Given the description of an element on the screen output the (x, y) to click on. 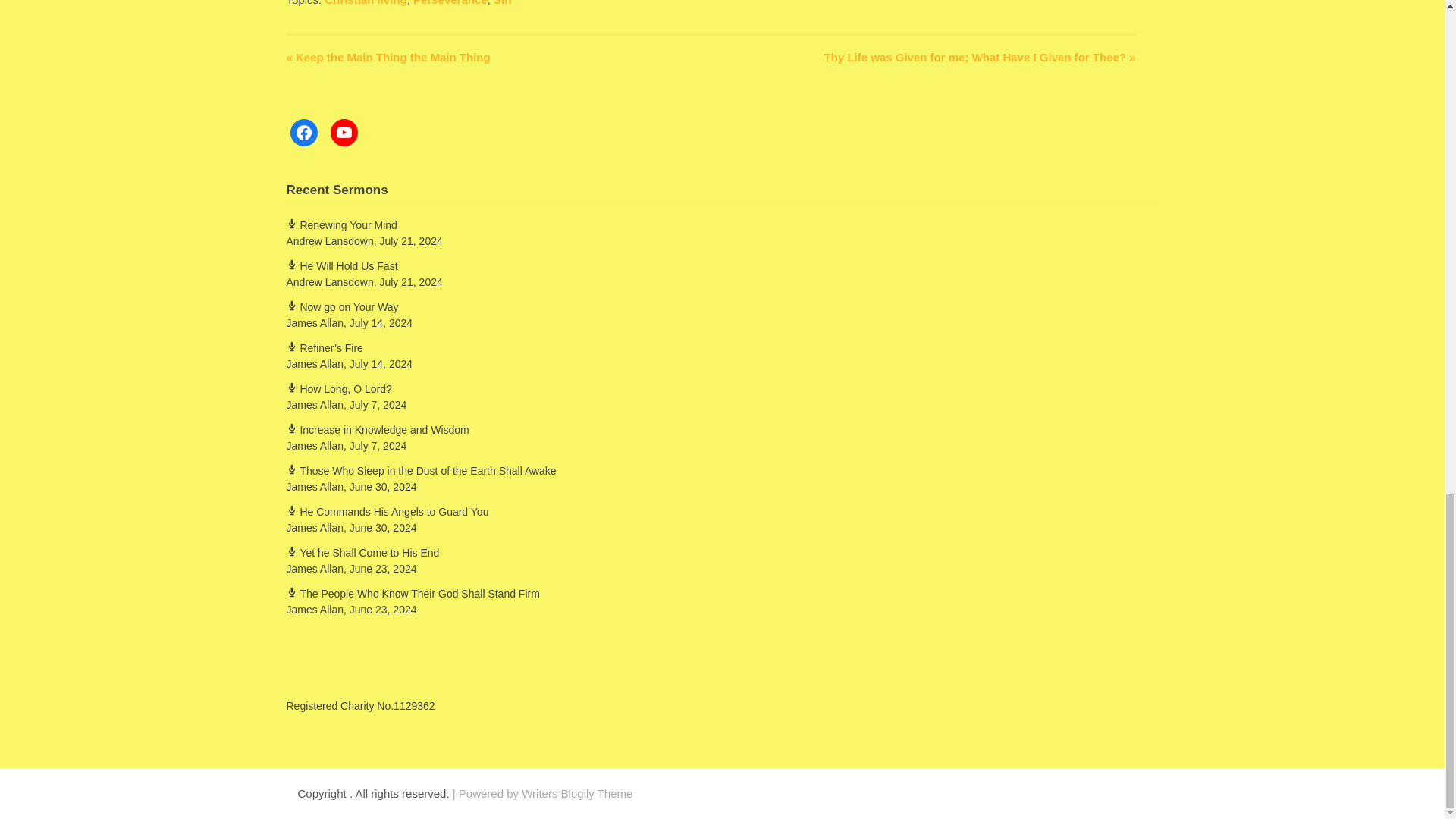
Yet he Shall Come to His End (362, 552)
Those Who Sleep in the Dust of the Earth Shall Awake (421, 470)
Sin (502, 2)
Increase in Knowledge and Wisdom (377, 429)
Christian living (365, 2)
Now go on Your Way (342, 306)
He Will Hold Us Fast (341, 265)
Perseverance (450, 2)
He Commands His Angels to Guard You (387, 511)
Renewing Your Mind (341, 224)
The People Who Know Their God Shall Stand Firm (413, 593)
How Long, O Lord? (338, 388)
